Given the description of an element on the screen output the (x, y) to click on. 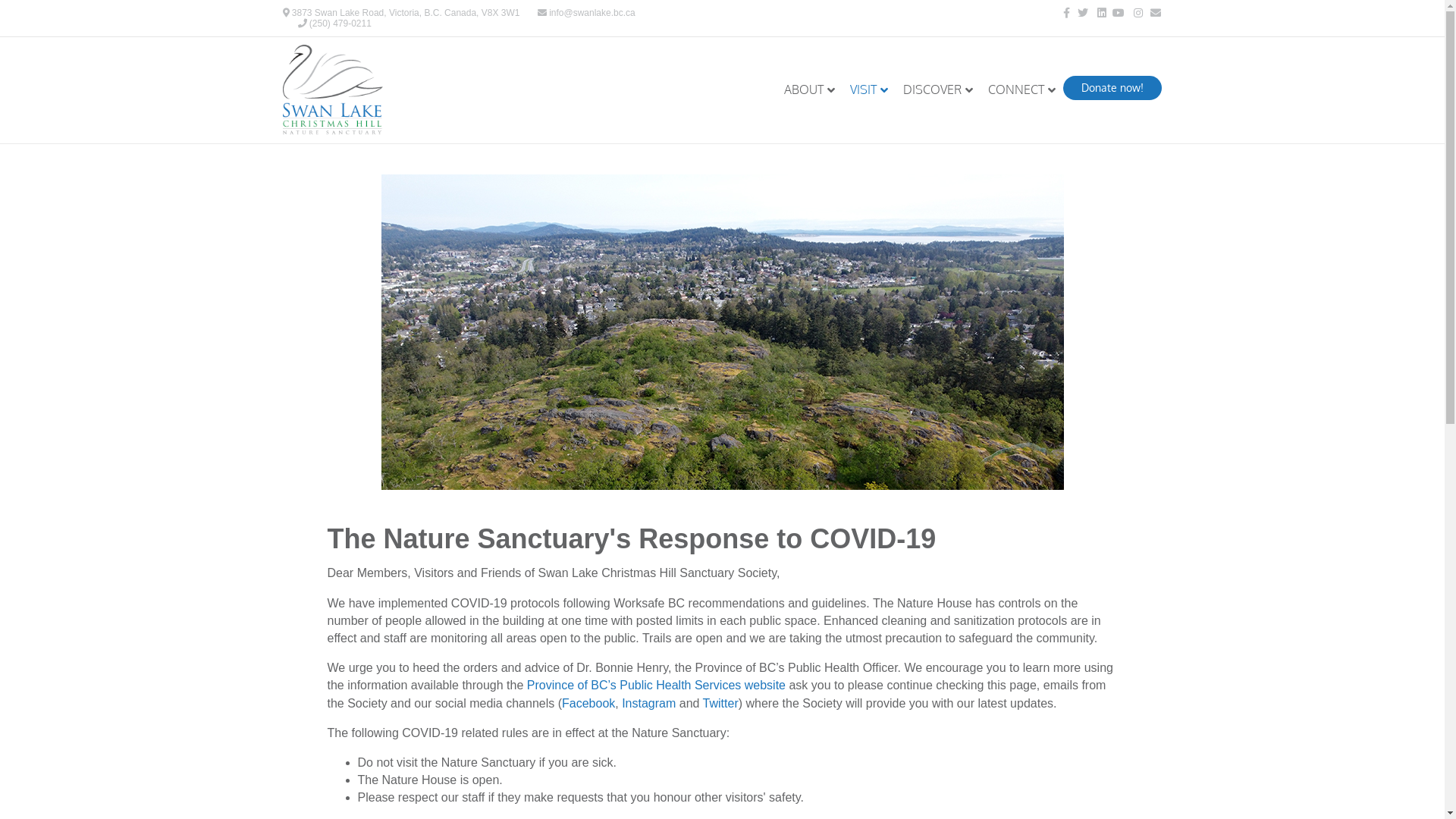
Twitter Element type: text (1078, 11)
ABOUT Element type: text (809, 89)
DISCOVER Element type: text (937, 89)
Instagram Element type: text (1132, 11)
Youtube Element type: text (1114, 11)
Email Element type: text (1151, 11)
Instagram Element type: text (648, 702)
Linkedin Element type: text (1096, 11)
DCIM100MEDIADJI_0515.JPG Element type: hover (721, 331)
Donate now! Element type: text (1112, 87)
Facebook Element type: text (1060, 11)
Twitter Element type: text (720, 702)
VISIT Element type: text (868, 89)
Facebook Element type: text (588, 702)
CONNECT Element type: text (1021, 89)
